Given the description of an element on the screen output the (x, y) to click on. 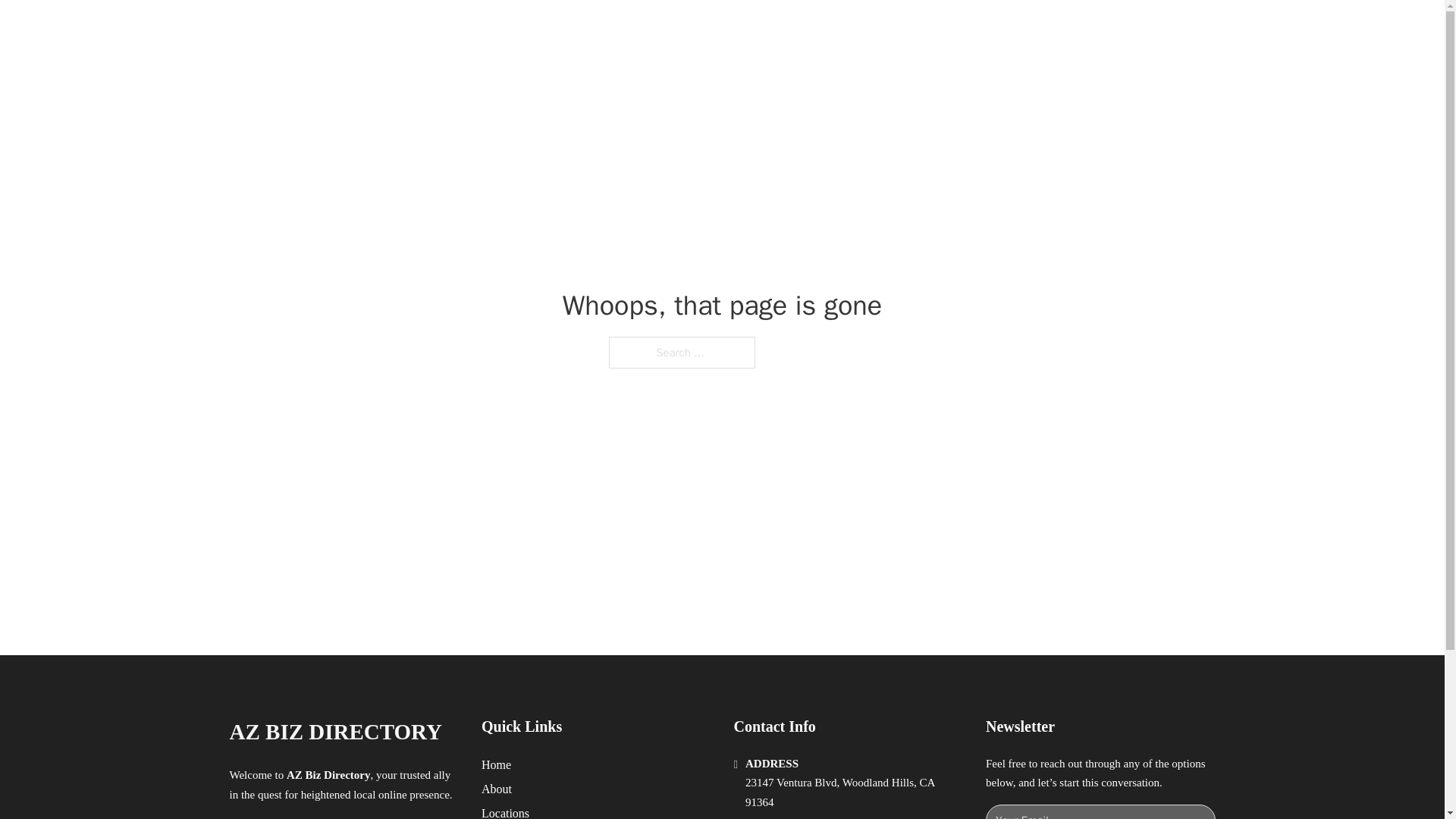
LOCATIONS (978, 29)
HOME (907, 29)
About (496, 788)
Locations (505, 811)
AZ BIZ DIRECTORY (403, 28)
Home (496, 764)
AZ BIZ DIRECTORY (334, 732)
